Given the description of an element on the screen output the (x, y) to click on. 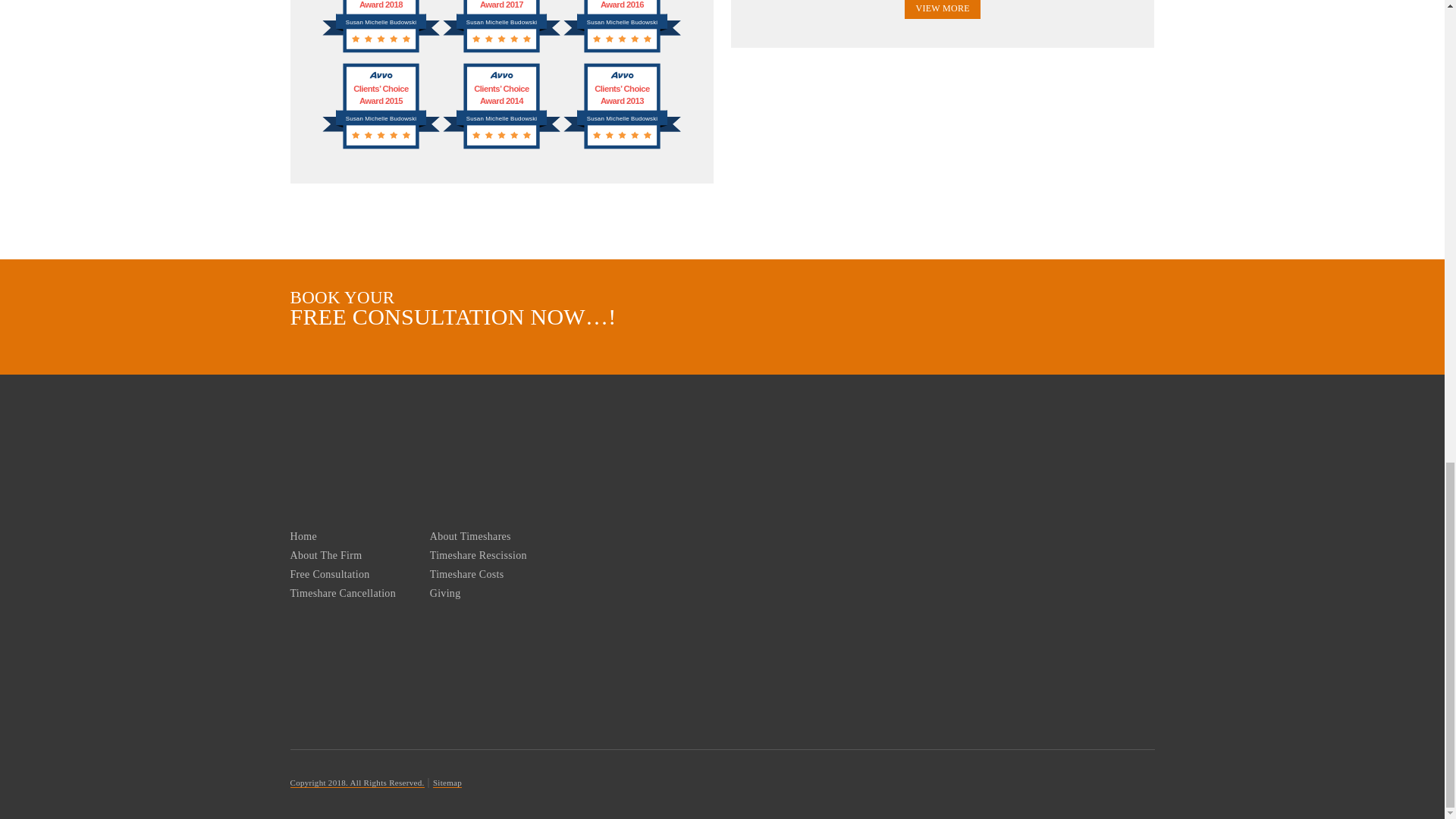
About Timeshares (470, 536)
Timeshare Costs (466, 573)
VIEW MORE (941, 9)
Giving (445, 593)
Boobk Now Susan M Budowski, LLC (1040, 330)
Timeshare Rescission (478, 555)
Copyright 2018. All Rights Reserved. (356, 782)
Home (302, 536)
Timeshare Cancellation (341, 593)
About The Firm (325, 555)
